Given the description of an element on the screen output the (x, y) to click on. 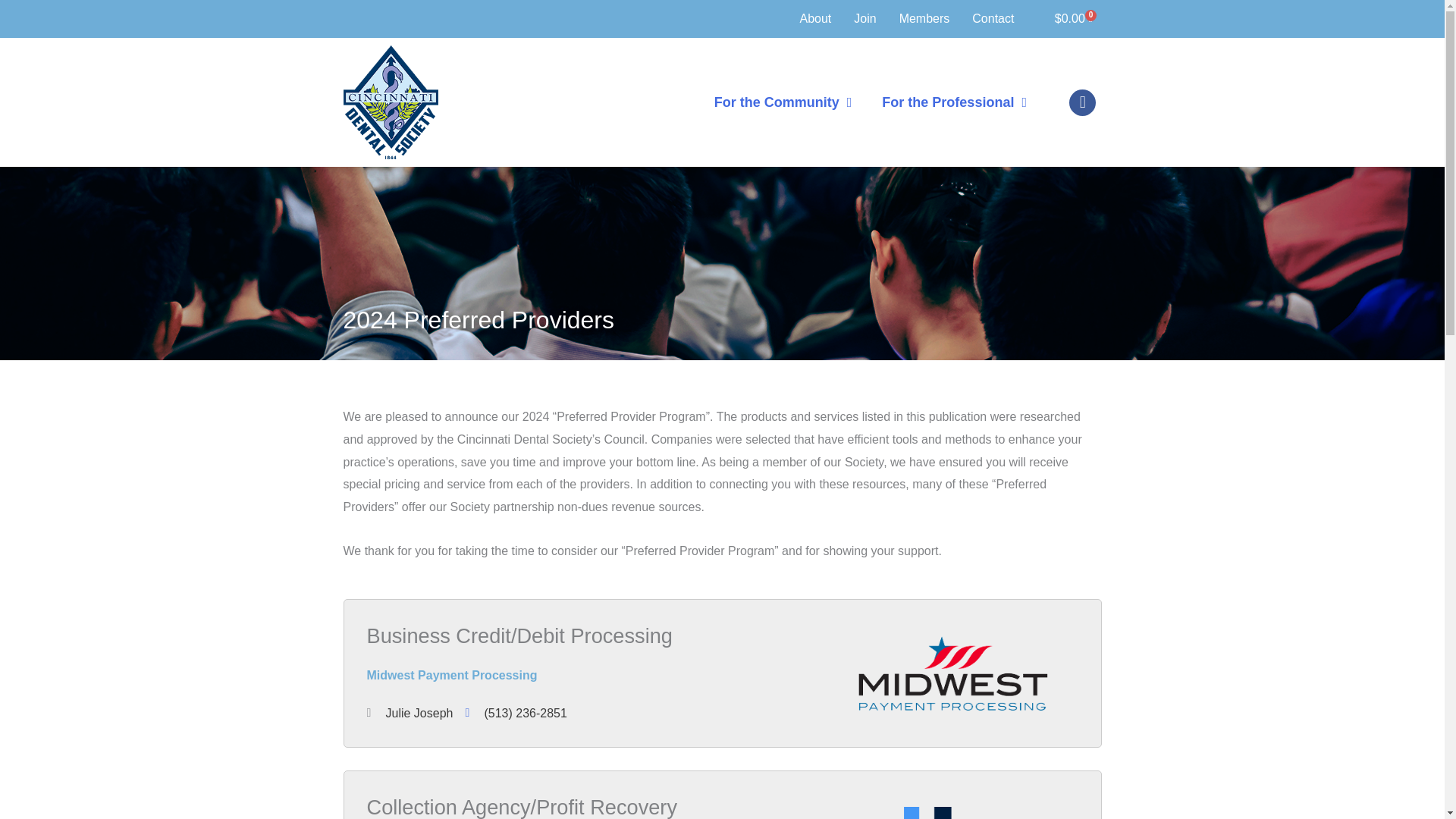
For the Professional (954, 102)
For the Community (782, 102)
Contact (992, 18)
Members (924, 18)
Join (864, 18)
About (815, 18)
